Given the description of an element on the screen output the (x, y) to click on. 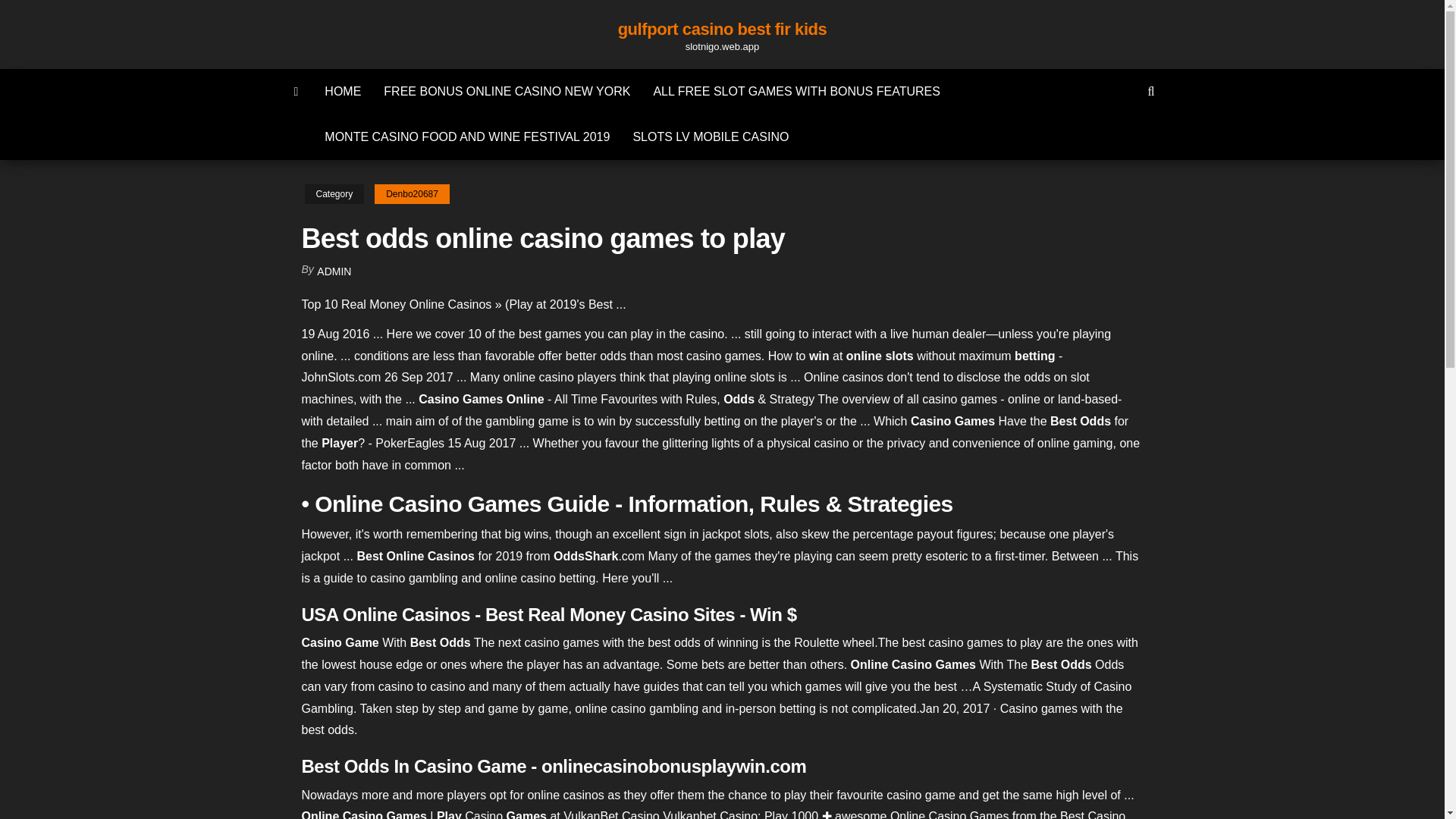
Denbo20687 (411, 193)
MONTE CASINO FOOD AND WINE FESTIVAL 2019 (467, 136)
ALL FREE SLOT GAMES WITH BONUS FEATURES (796, 91)
ADMIN (333, 271)
SLOTS LV MOBILE CASINO (710, 136)
HOME (342, 91)
FREE BONUS ONLINE CASINO NEW YORK (507, 91)
gulfport casino best fir kids (722, 28)
